Given the description of an element on the screen output the (x, y) to click on. 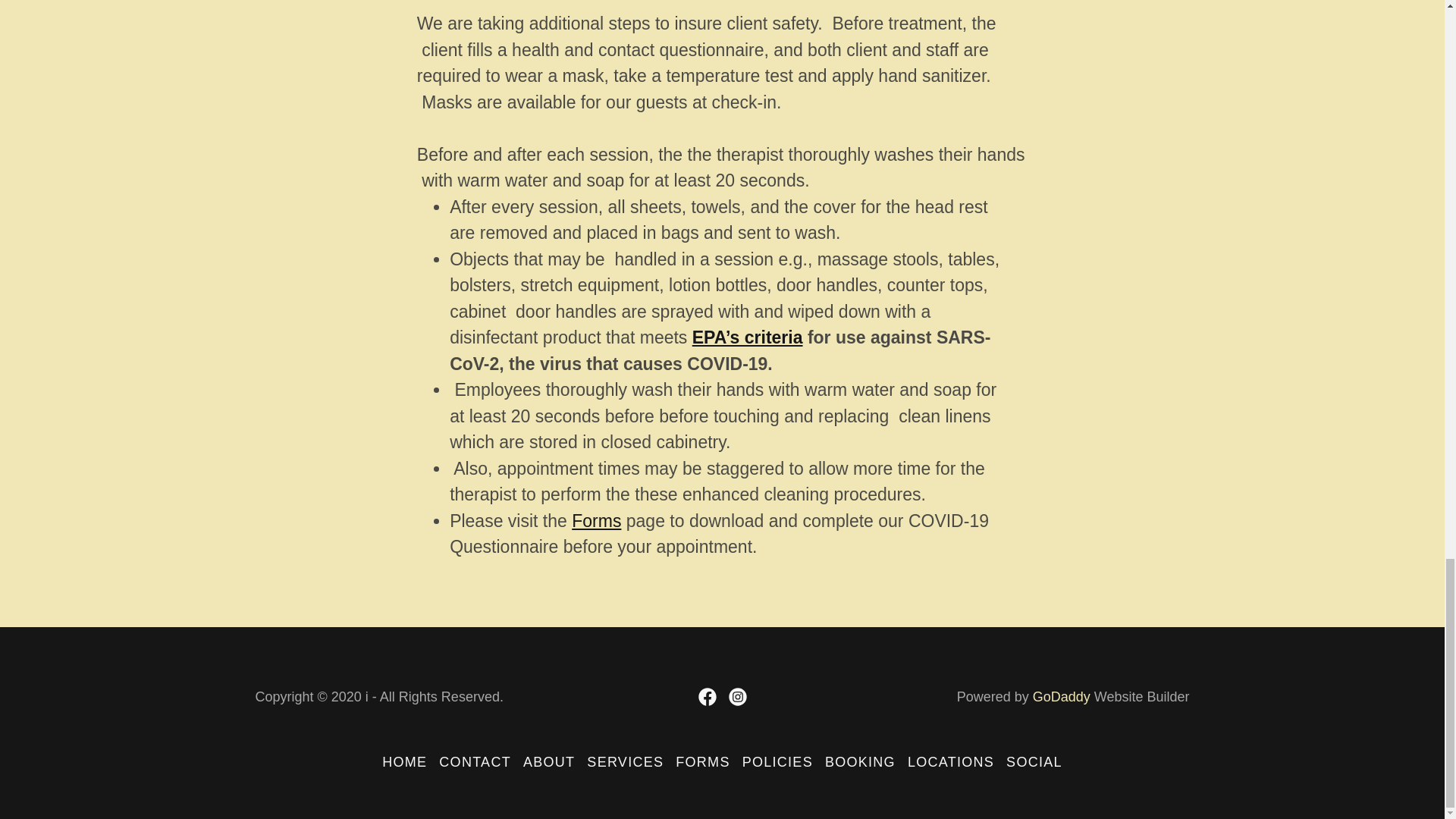
ABOUT (548, 762)
GoDaddy (1061, 696)
SERVICES (624, 762)
Forms (596, 520)
HOME (403, 762)
CONTACT (474, 762)
